Given the description of an element on the screen output the (x, y) to click on. 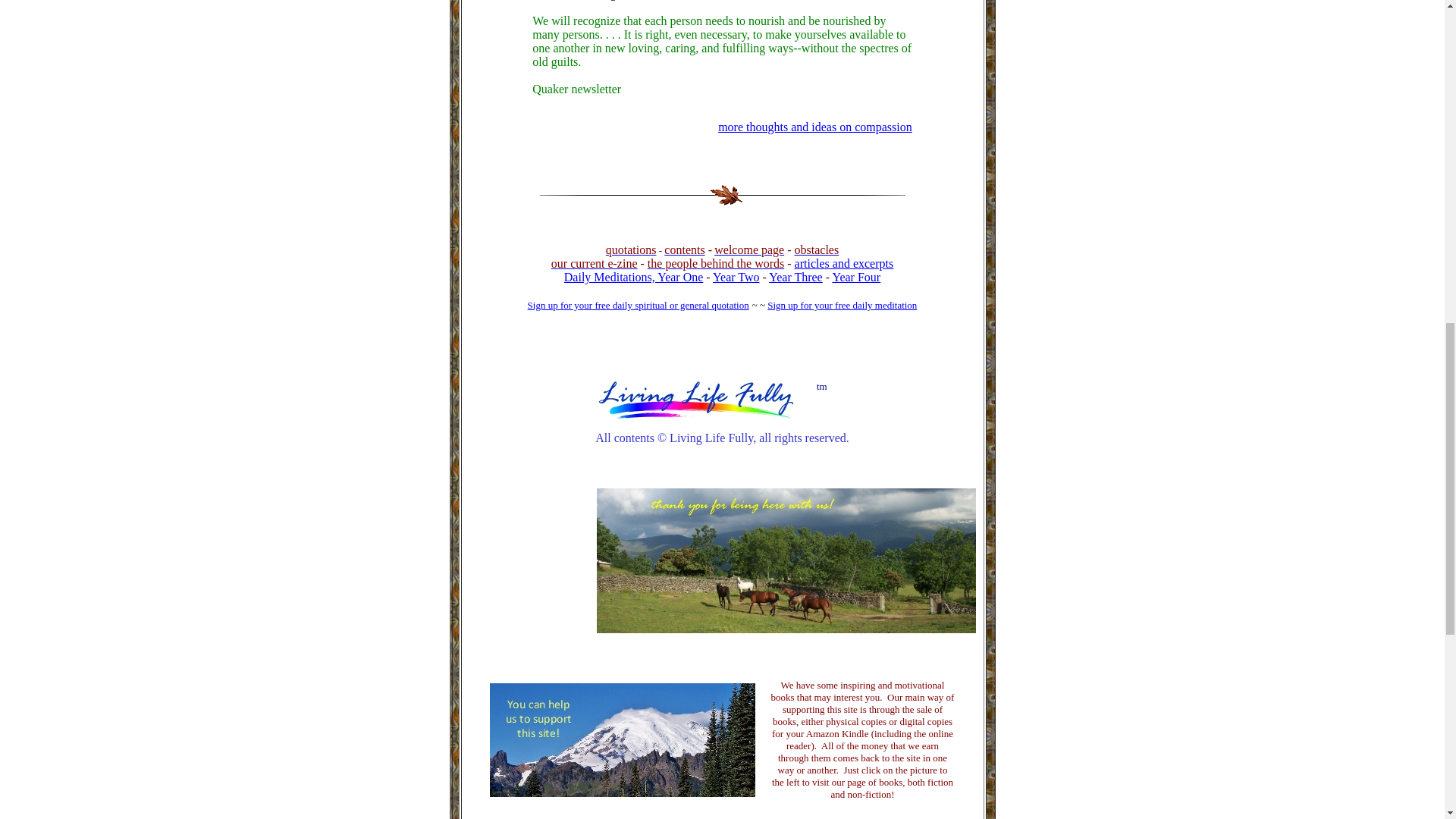
articles and excerpts (843, 263)
the people behind the words (715, 263)
Daily Meditations, Year One (633, 277)
Sign up for your free daily meditation (842, 305)
contents (683, 249)
Sign up for your free daily spiritual or general quotation (638, 311)
Year Four (855, 277)
Year Three (795, 277)
quotations (630, 249)
more thoughts and ideas on compassion (814, 126)
obstacles (817, 249)
welcome page (749, 249)
Year Two (735, 277)
our current e-zine (594, 263)
